Given the description of an element on the screen output the (x, y) to click on. 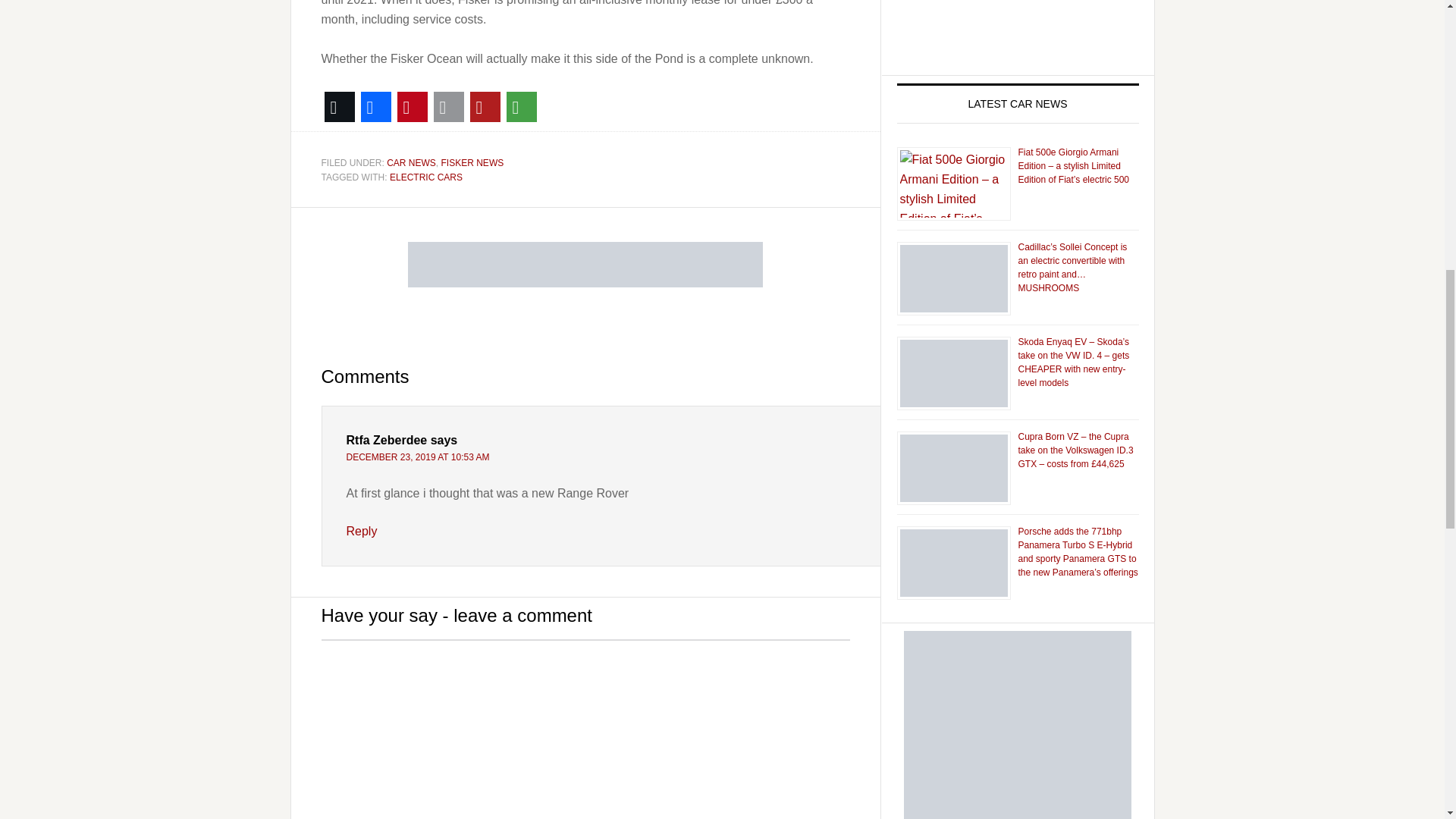
Reply (361, 530)
FISKER NEWS (472, 163)
Pinterest (412, 106)
Facebook (376, 106)
DECEMBER 23, 2019 AT 10:53 AM (417, 457)
More Options (521, 106)
Email This (448, 106)
CAR NEWS (411, 163)
Flipboard (485, 106)
Comment Form (585, 729)
ELECTRIC CARS (426, 176)
